Given the description of an element on the screen output the (x, y) to click on. 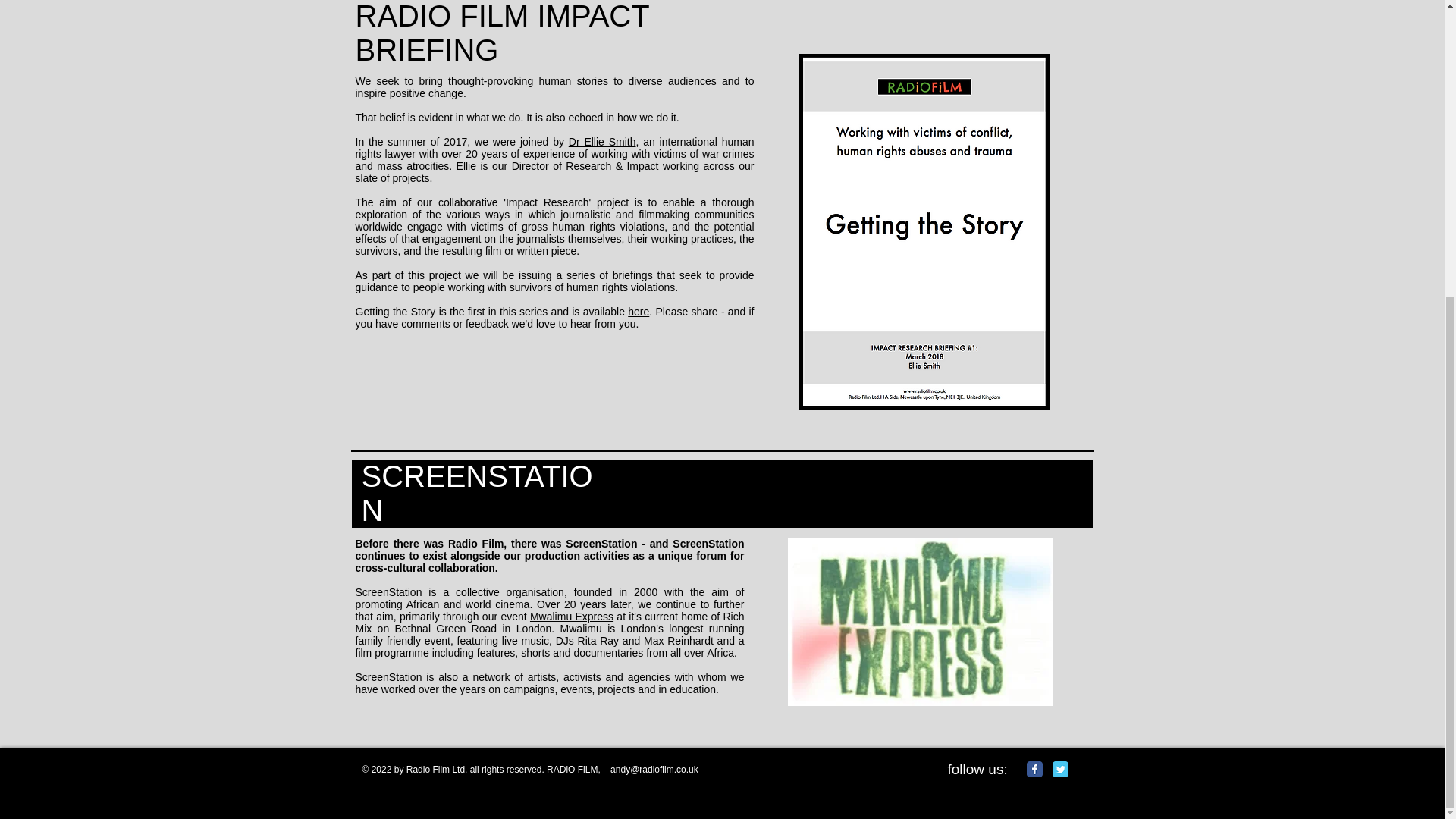
here (638, 311)
Mwalimu Express (570, 616)
Dr Ellie Smith (602, 141)
